Given the description of an element on the screen output the (x, y) to click on. 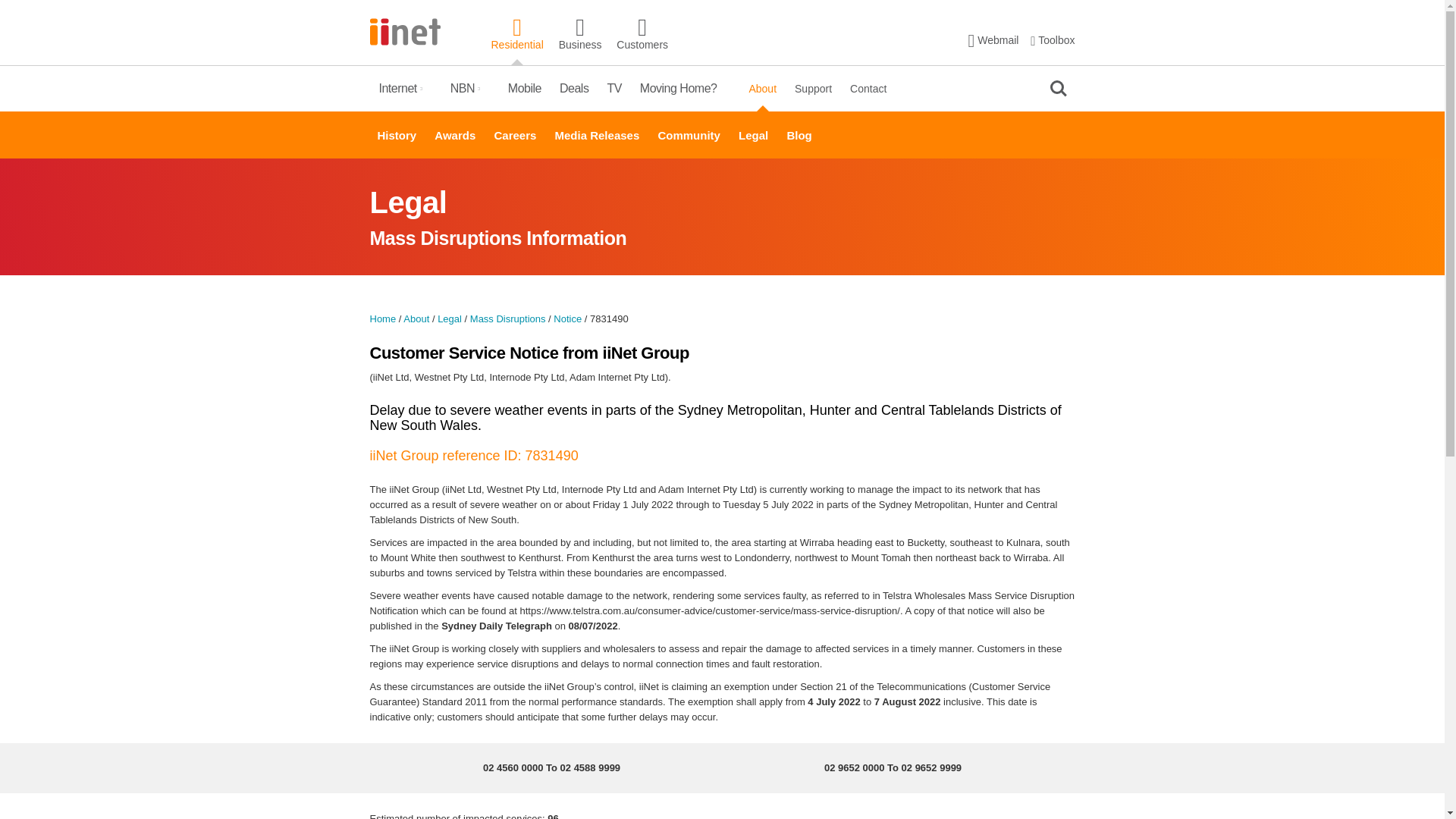
Webmail (993, 39)
Toolbox (1052, 39)
iiNet logo (405, 30)
